Given the description of an element on the screen output the (x, y) to click on. 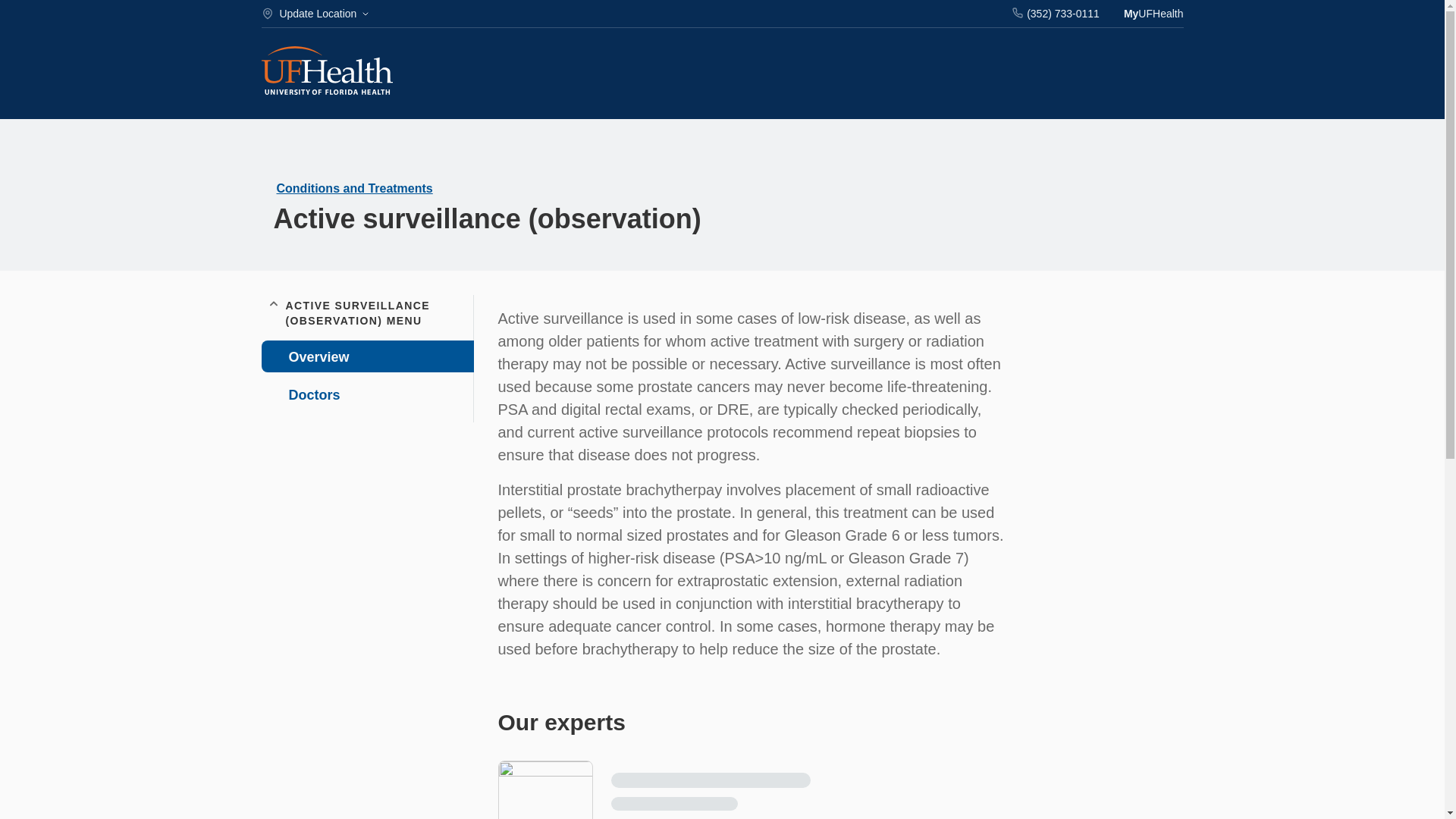
MyUFHealth (1153, 13)
Conditions and Treatments (354, 187)
Overview (366, 356)
UF Health Home (325, 72)
Doctors (365, 394)
